Given the description of an element on the screen output the (x, y) to click on. 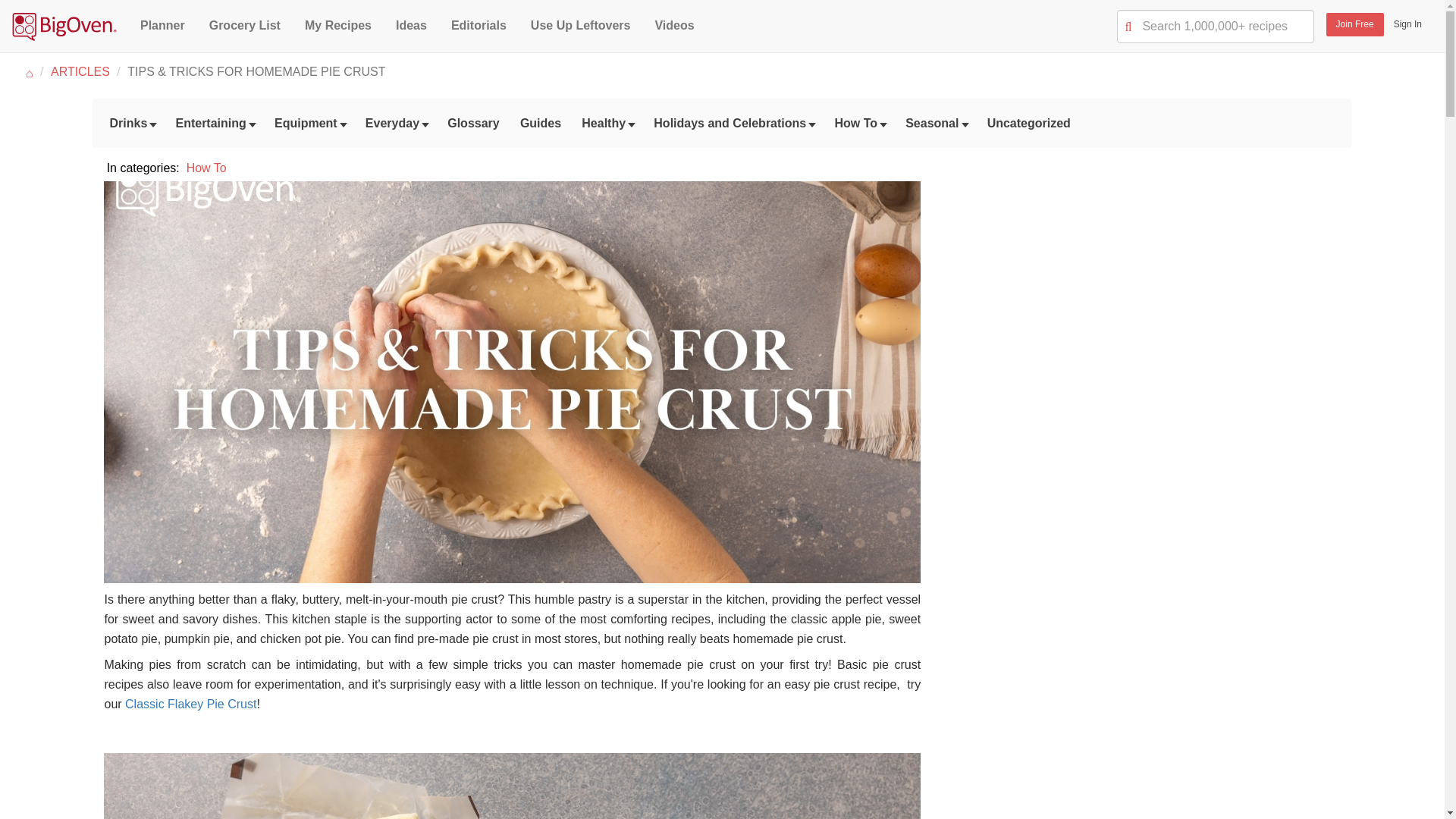
Videos (673, 24)
Drinks (126, 122)
homemade-pie-crust (511, 785)
Sign In (1407, 24)
Ideas (411, 24)
Editorials (478, 24)
Use Up Leftovers (580, 24)
Join Free (1355, 24)
Grocery List (245, 24)
